Given the description of an element on the screen output the (x, y) to click on. 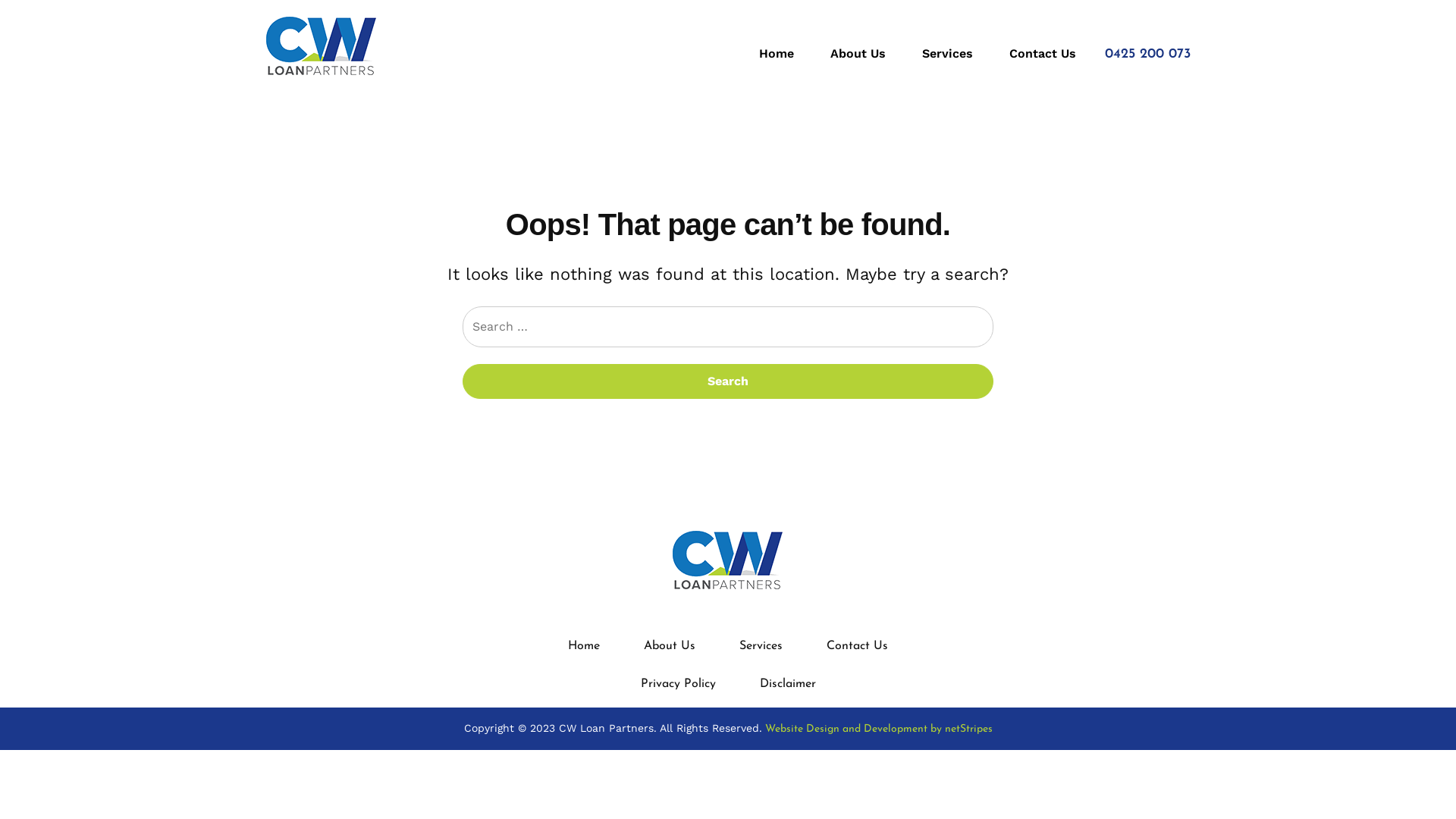
Services Element type: text (760, 646)
Services Element type: text (947, 53)
0425 200 073 Element type: text (1147, 54)
Search Element type: text (727, 381)
About Us Element type: text (857, 53)
Website Design and Development by netStripes Element type: text (876, 728)
Privacy Policy Element type: text (677, 683)
Home Element type: text (583, 646)
Home Element type: text (776, 53)
Contact Us Element type: text (1035, 53)
Contact Us Element type: text (856, 646)
Disclaimer Element type: text (787, 683)
About Us Element type: text (669, 646)
